Given the description of an element on the screen output the (x, y) to click on. 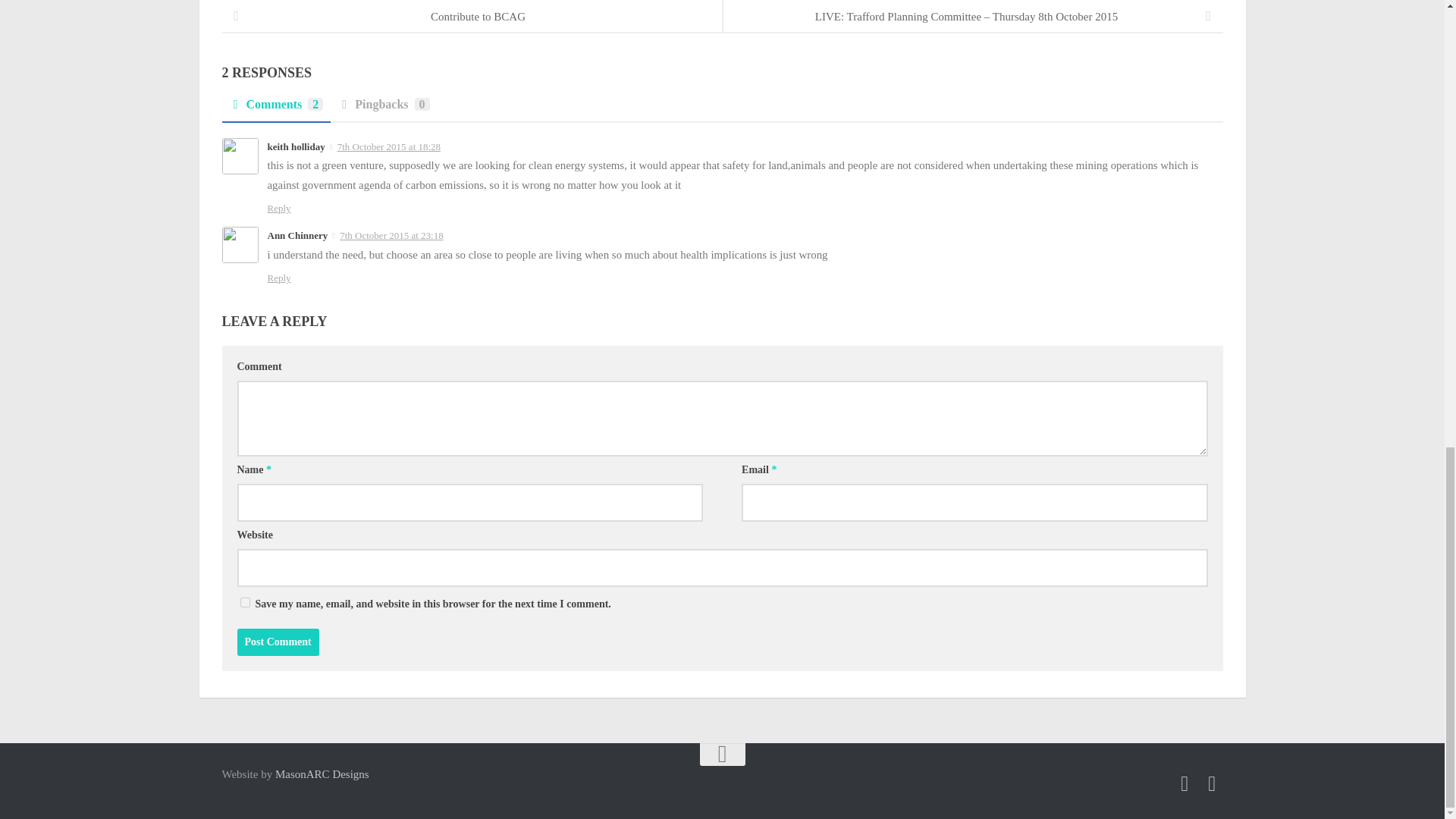
Follow us on Facebook (1184, 783)
Follow us on Twitter (1212, 783)
Post Comment (276, 642)
yes (244, 602)
Contribute to BCAG (471, 16)
